Given the description of an element on the screen output the (x, y) to click on. 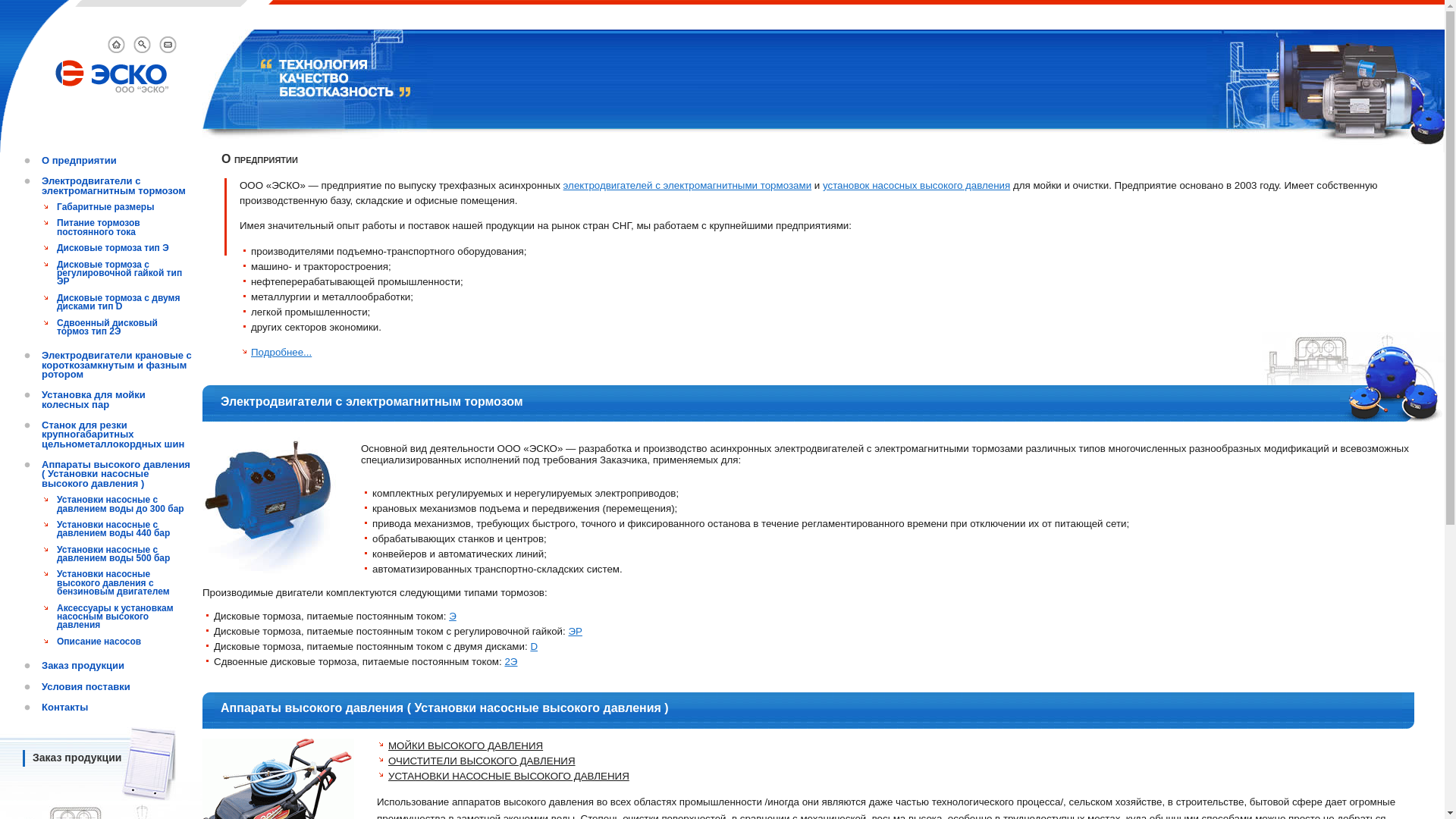
D Element type: text (533, 646)
